Given the description of an element on the screen output the (x, y) to click on. 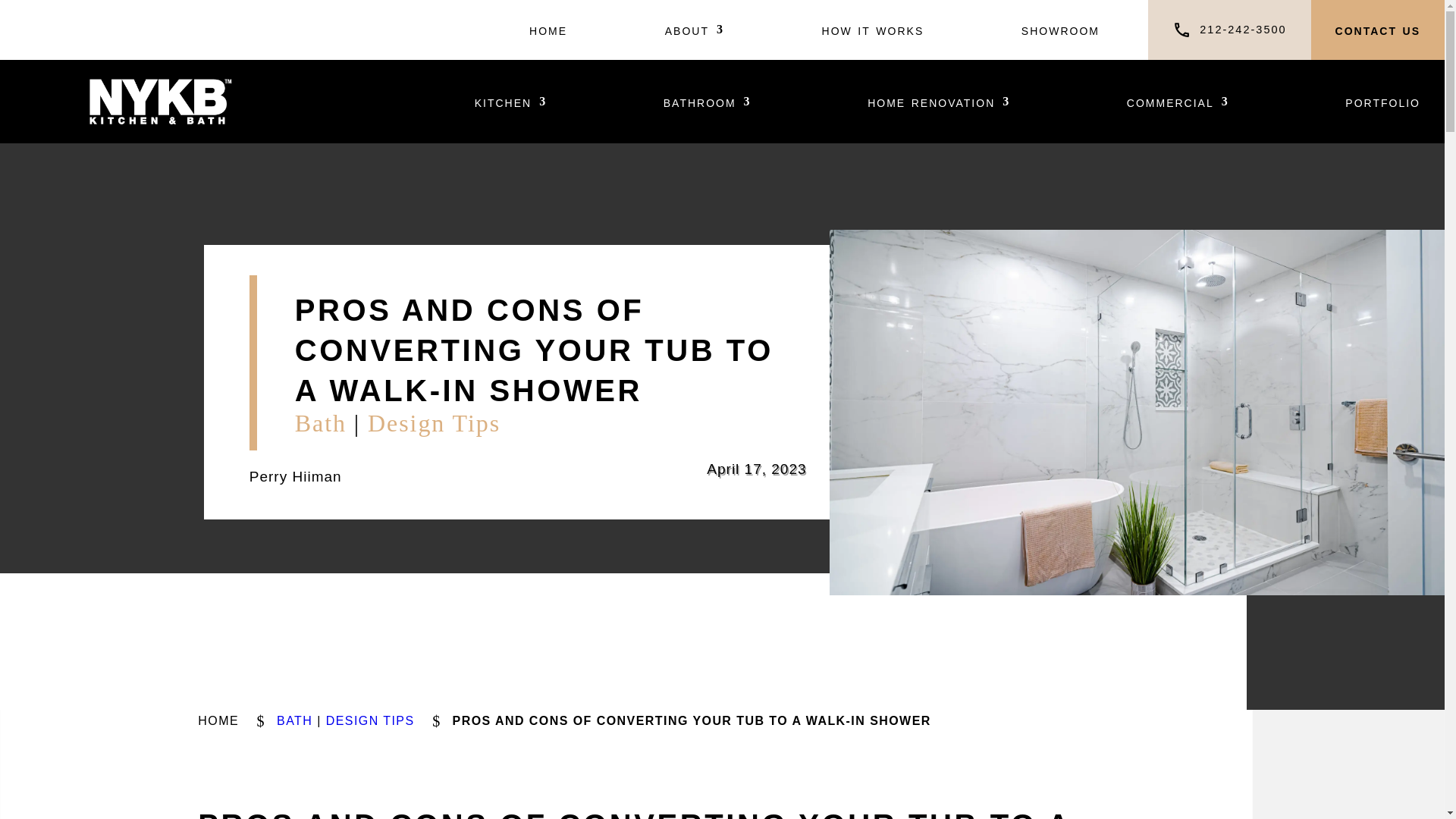
NYKB-white-logo (159, 101)
bathroom (707, 101)
home (548, 29)
home renovation (938, 101)
how it works (873, 29)
212-242-3500 (1242, 29)
portfolio (1383, 101)
showroom (1060, 29)
commercial (1177, 101)
kitchen (510, 101)
